Given the description of an element on the screen output the (x, y) to click on. 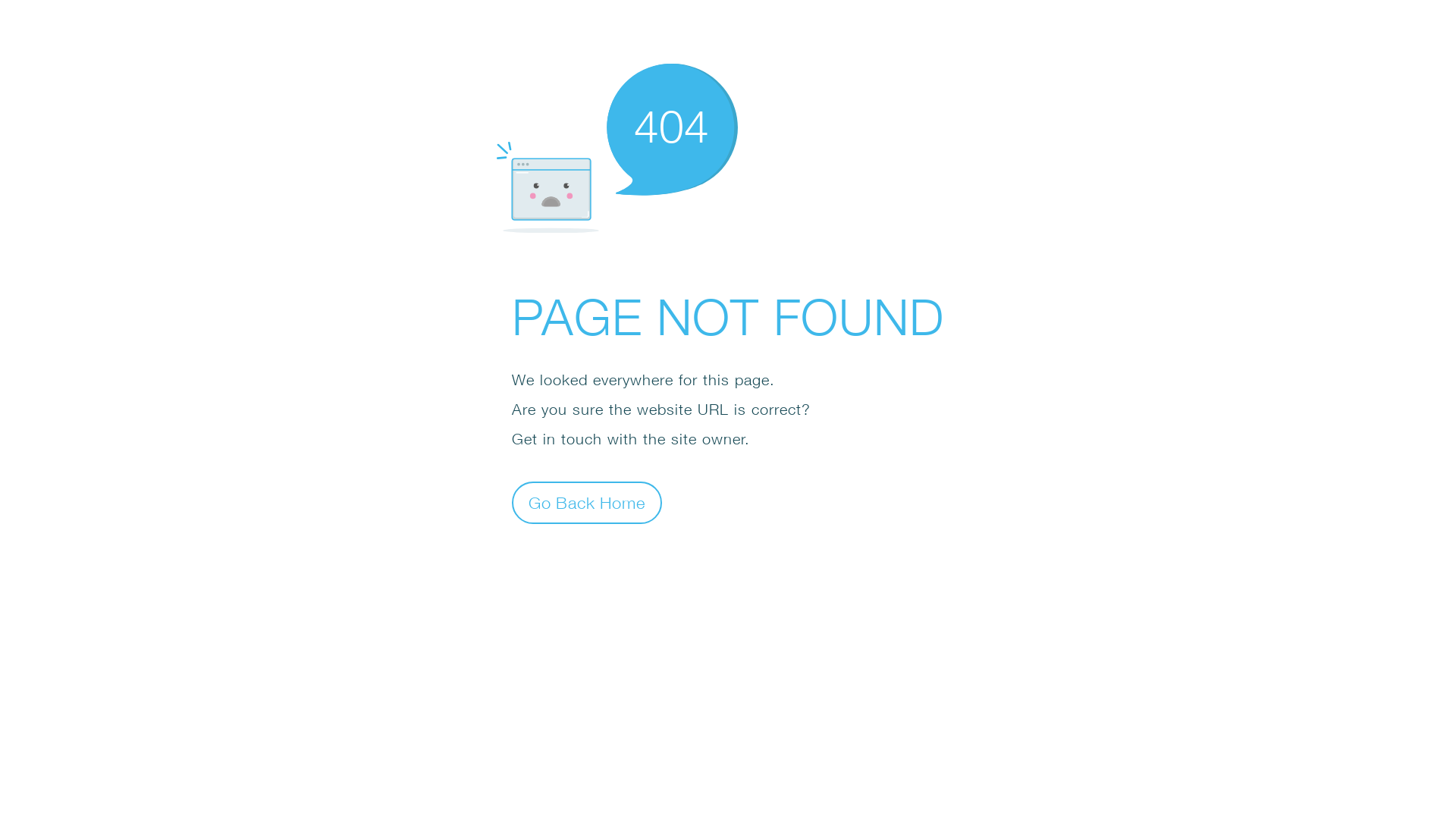
Go Back Home Element type: text (586, 502)
